Given the description of an element on the screen output the (x, y) to click on. 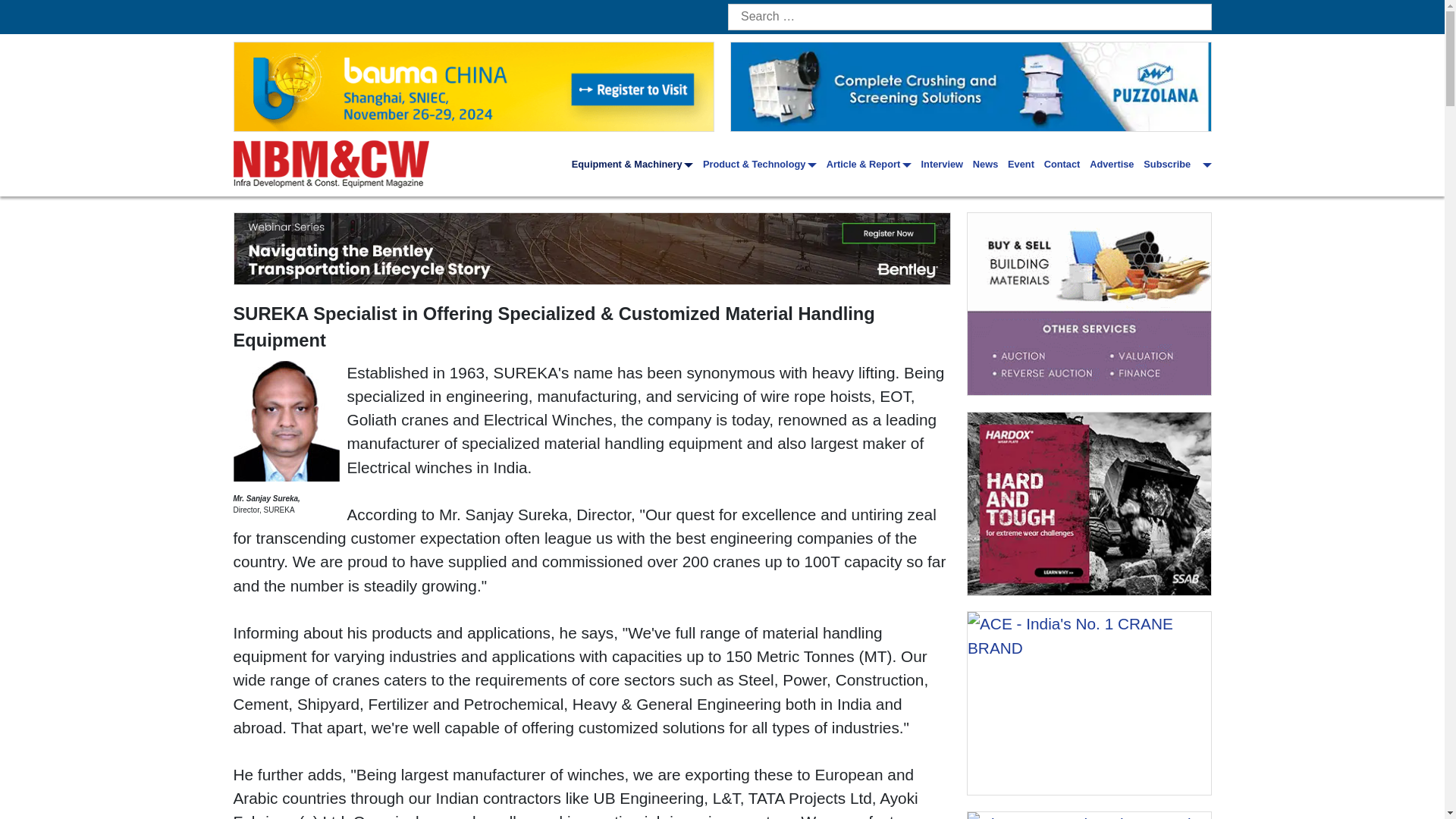
Navigating the Bentley Transportation Lifecycle Story (591, 248)
Nirmaana - 12th-13th September 2024 (1089, 815)
ACE - India's No. 1 CRANE BRAND (1089, 702)
Infrabazaar - One STOP SHOP for all your INFRA needs (1089, 303)
bauma China - 26 - 29 November 2024 - Shanghai (472, 86)
Puzzolana - Complete Crushing and Screening Solutions (970, 86)
